Given the description of an element on the screen output the (x, y) to click on. 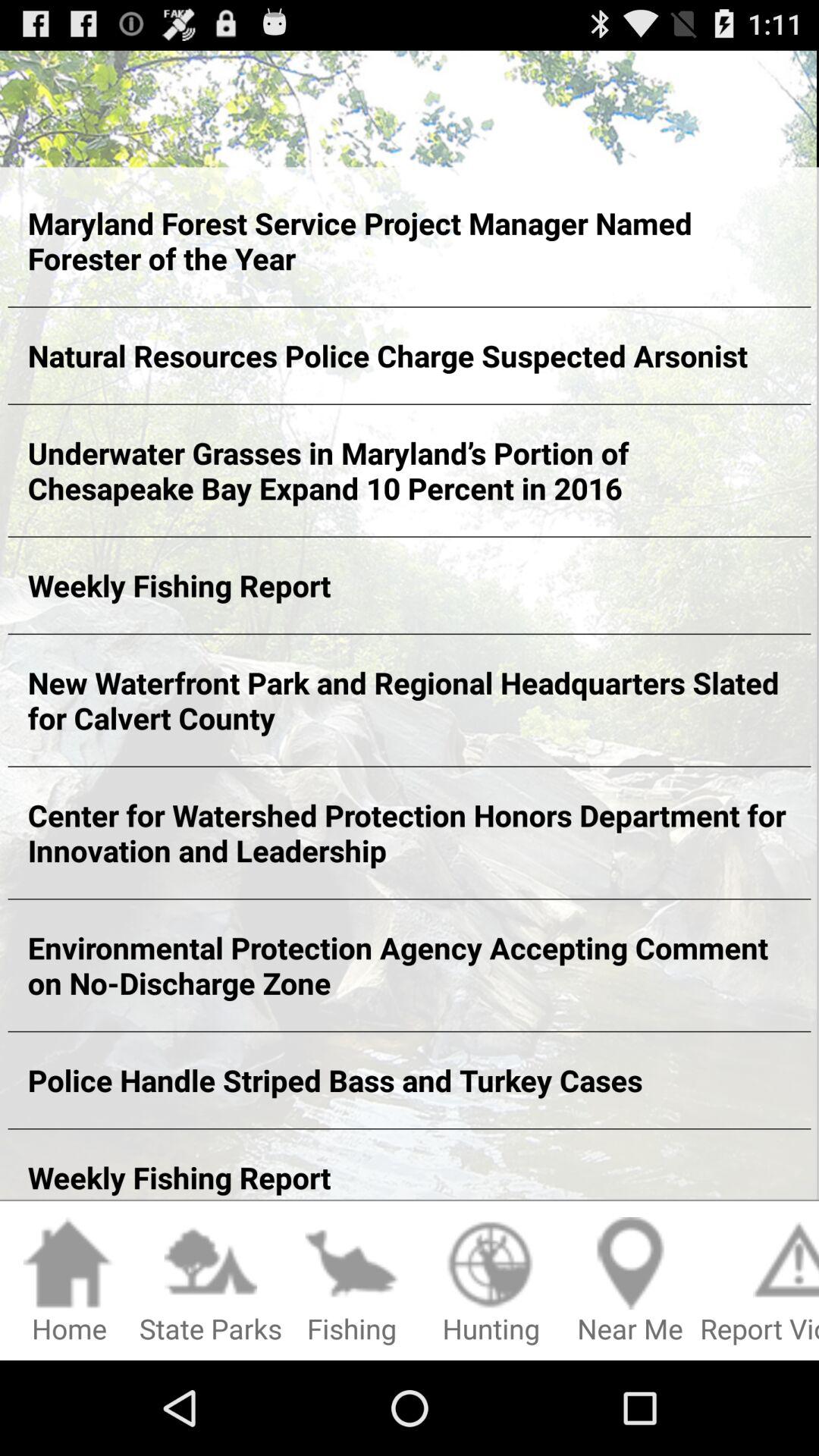
launch icon next to the home item (210, 1282)
